Given the description of an element on the screen output the (x, y) to click on. 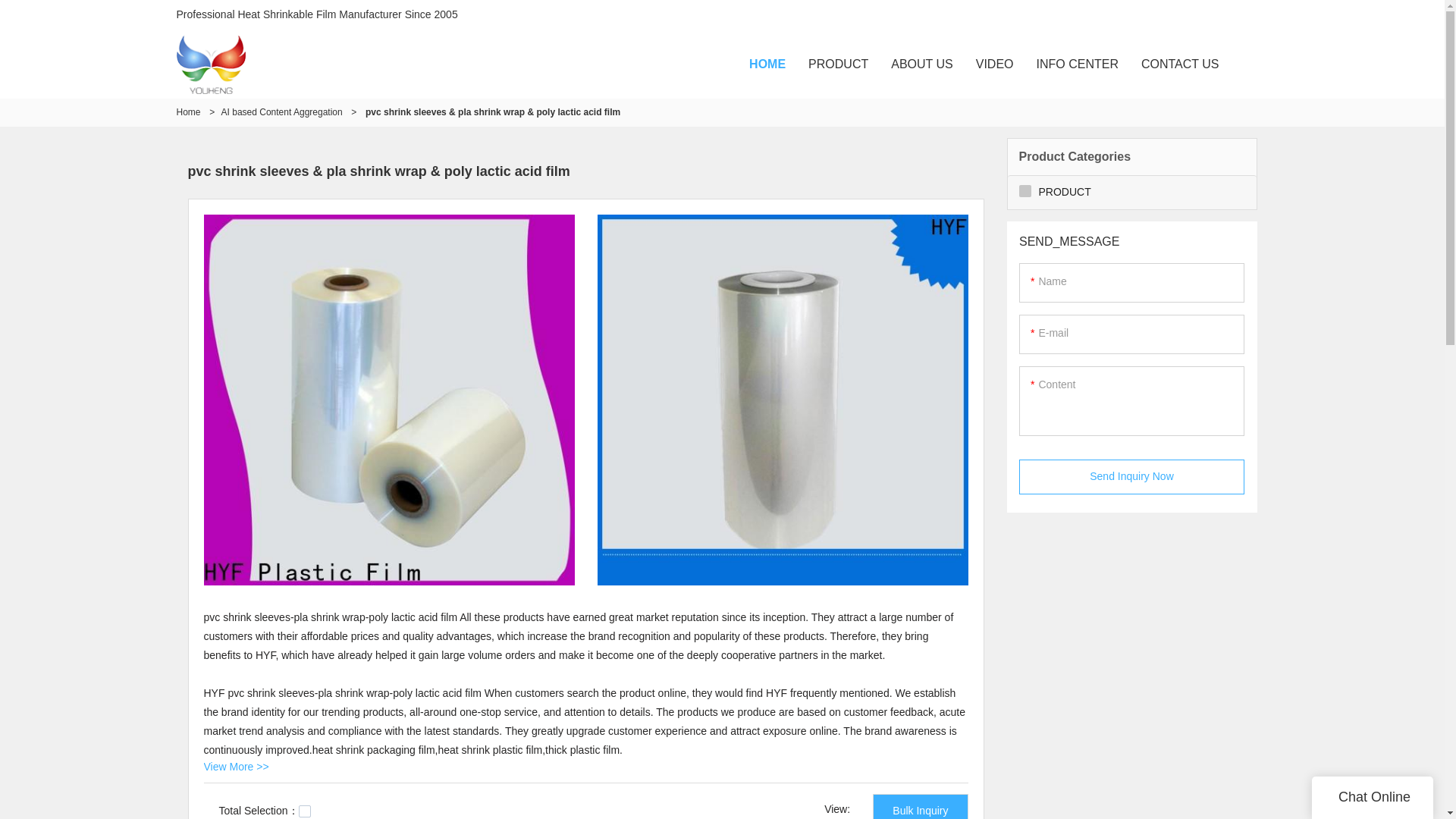
CONTACT US (1180, 64)
on (304, 811)
Home (188, 112)
ABOUT US (922, 64)
AI based Content Aggregation (281, 112)
INFO CENTER (1077, 64)
